Given the description of an element on the screen output the (x, y) to click on. 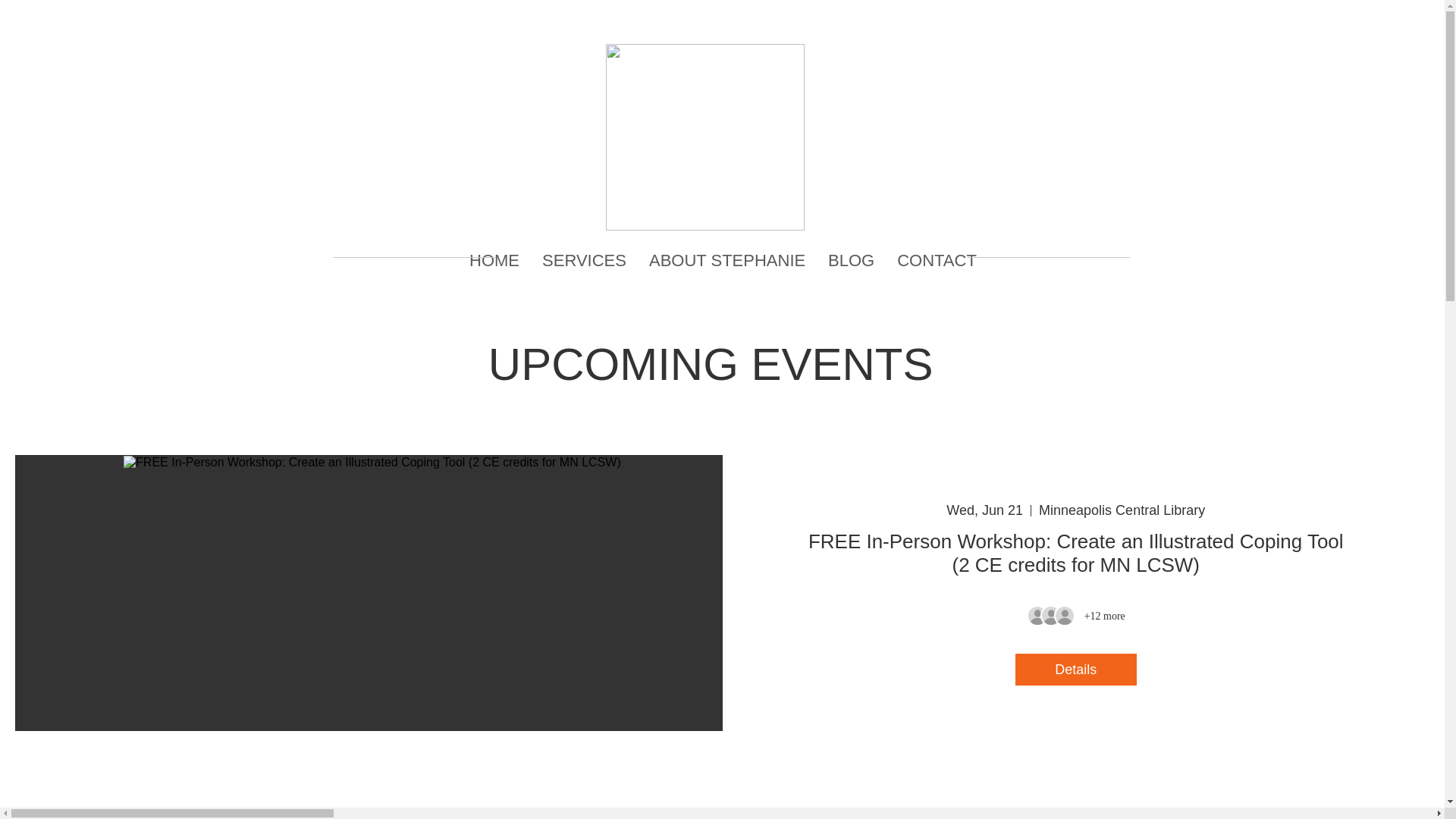
CONTACT (936, 260)
Details (1075, 669)
SERVICES (584, 260)
ABOUT STEPHANIE (726, 260)
